Given the description of an element on the screen output the (x, y) to click on. 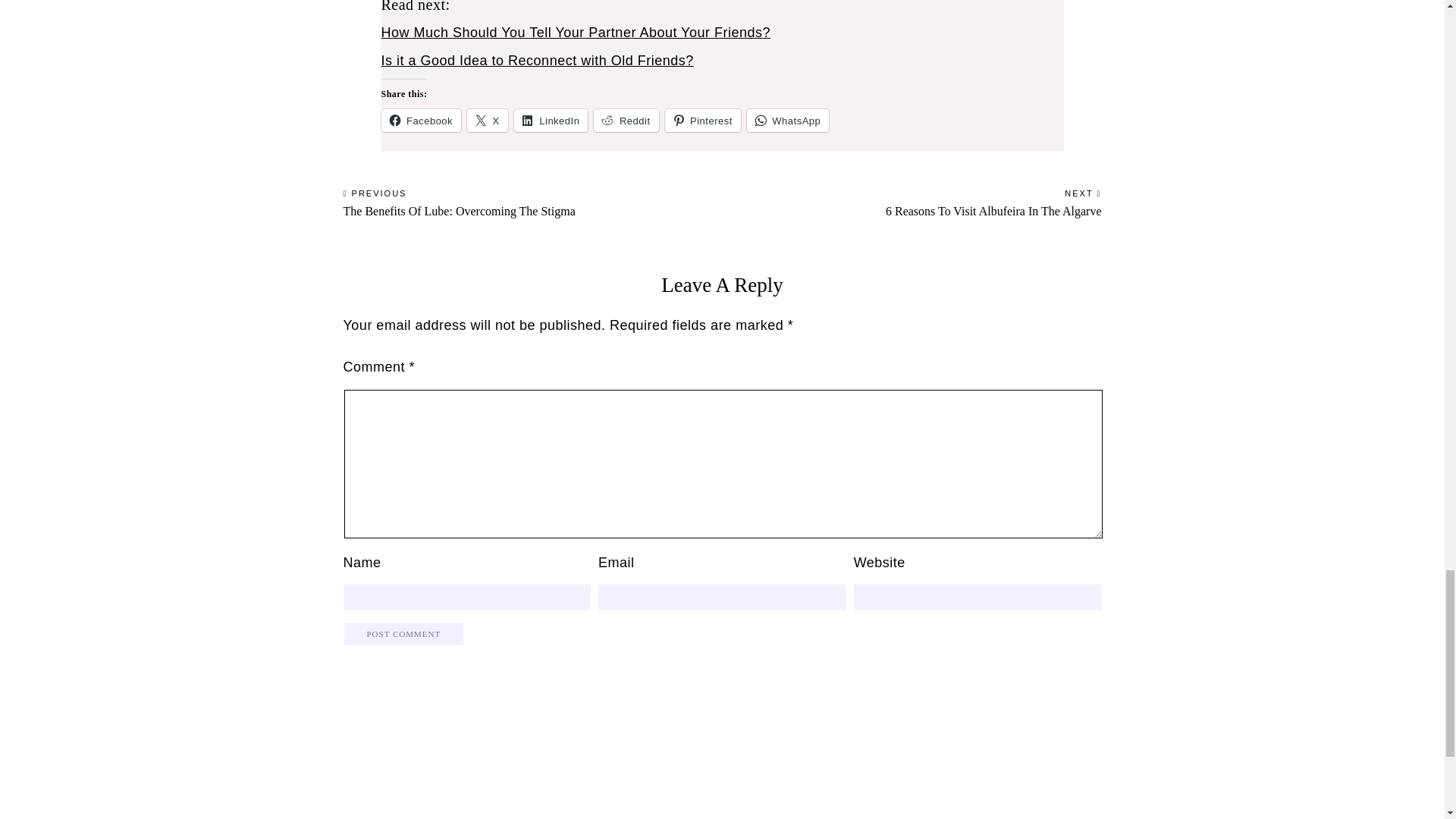
Post Comment (403, 634)
Facebook (420, 119)
Click to share on X (487, 119)
LinkedIn (550, 119)
Click to share on LinkedIn (532, 199)
WhatsApp (550, 119)
Reddit (787, 119)
X (626, 119)
Click to share on Pinterest (487, 119)
Is it a Good Idea to Reconnect with Old Friends? (701, 119)
Pinterest (536, 60)
Click to share on WhatsApp (701, 119)
How Much Should You Tell Your Partner About Your Friends? (787, 119)
Click to share on Facebook (575, 32)
